Given the description of an element on the screen output the (x, y) to click on. 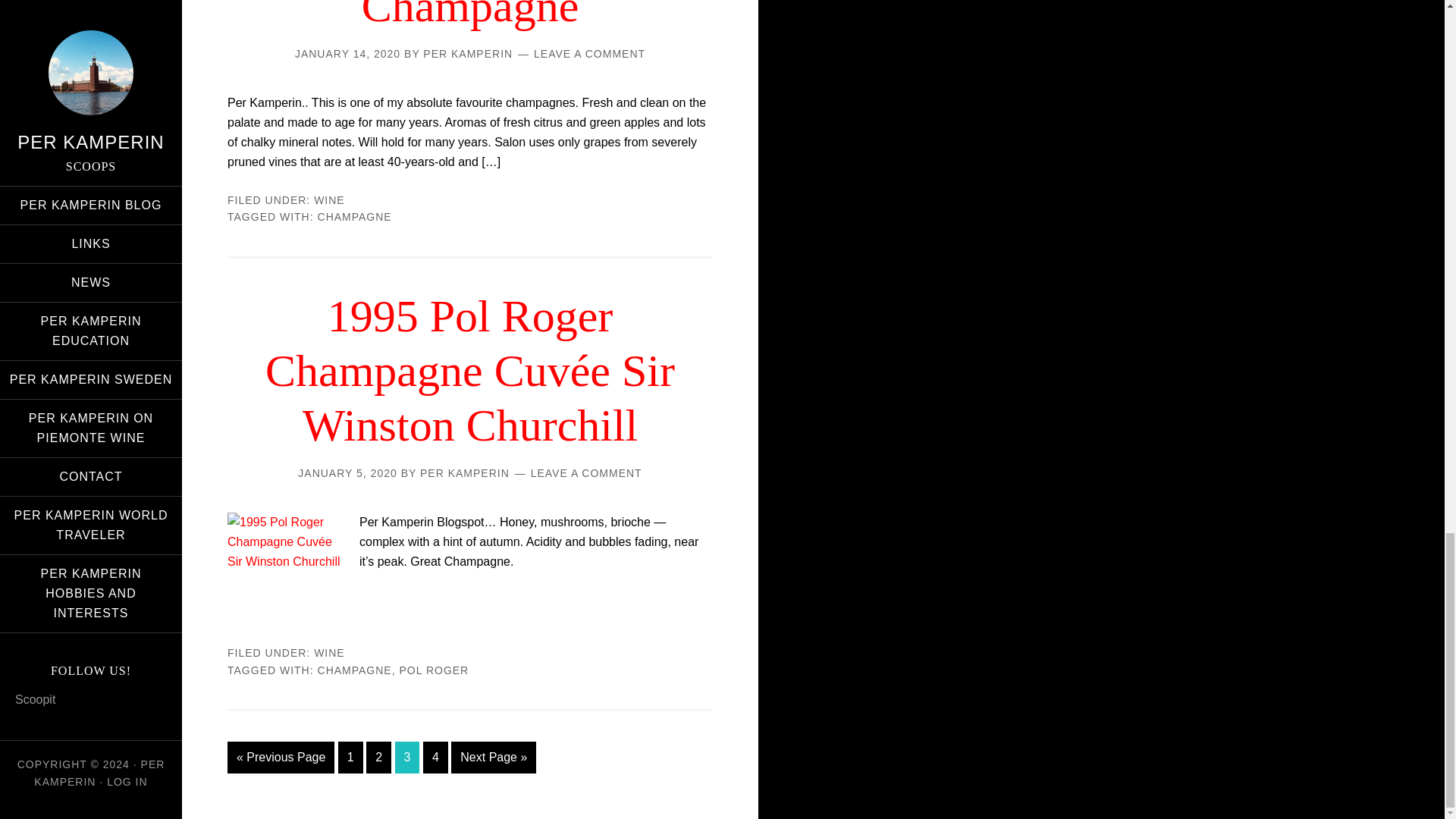
PER KAMPERIN (467, 53)
LEAVE A COMMENT (589, 53)
WINE (329, 200)
PER KAMPERIN (464, 472)
CHAMPAGNE (354, 216)
